Given the description of an element on the screen output the (x, y) to click on. 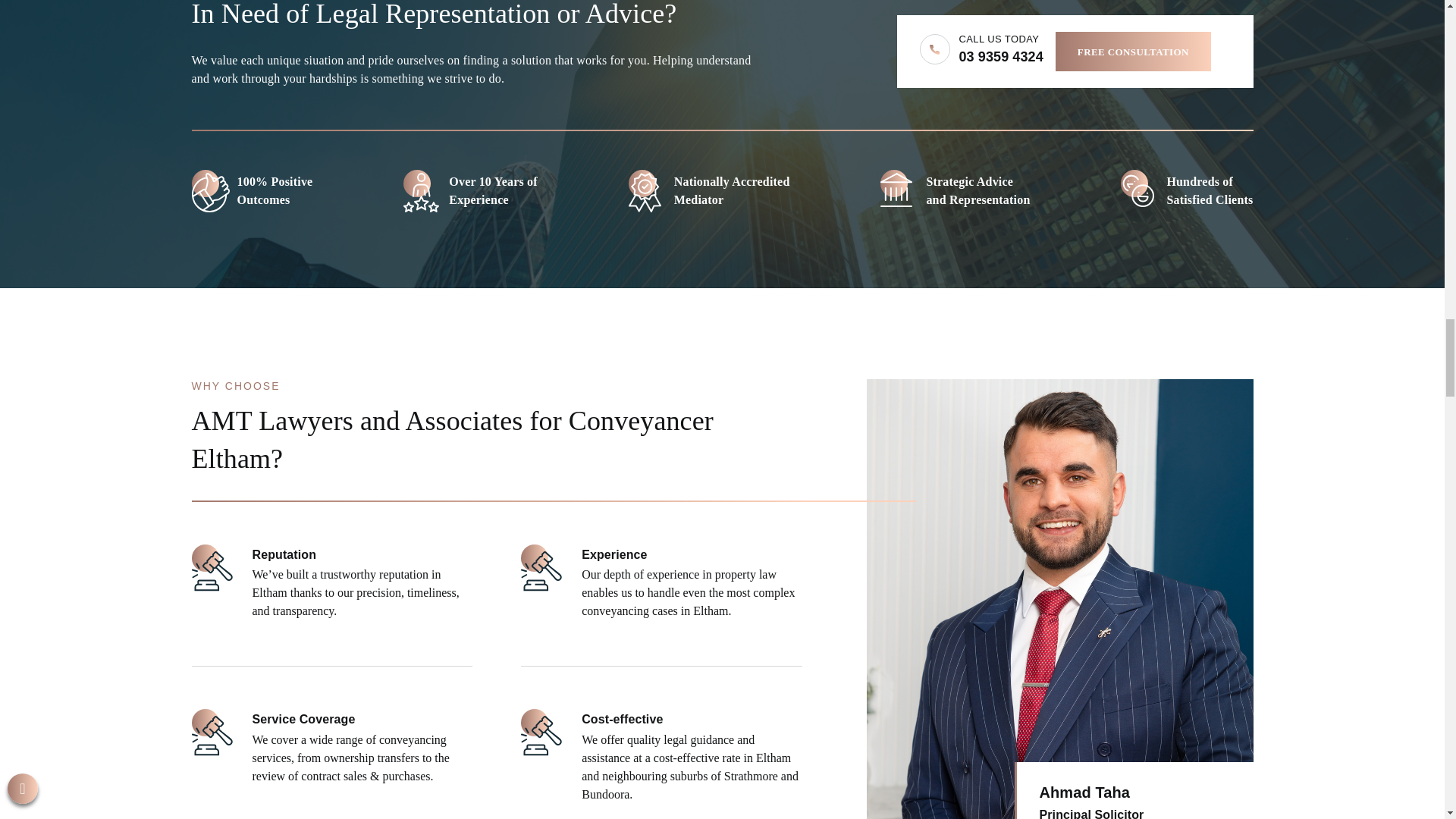
phone-call-brown (934, 49)
